Given the description of an element on the screen output the (x, y) to click on. 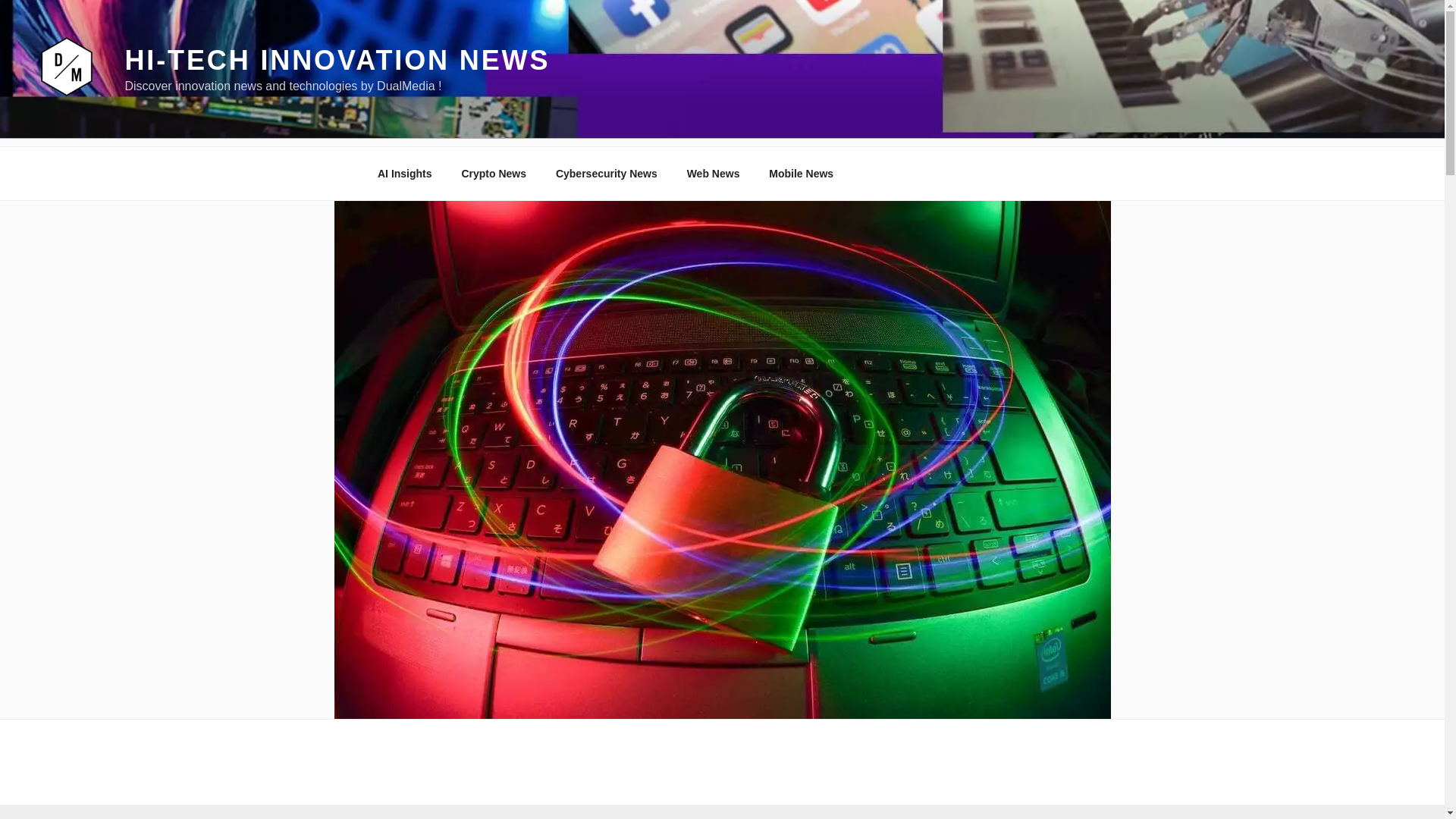
AI Insights (404, 172)
Crypto News (494, 172)
HI-TECH INNOVATION NEWS (336, 60)
Web News (712, 172)
Cybersecurity News (605, 172)
Mobile News (801, 172)
Advertisement (721, 811)
